Given the description of an element on the screen output the (x, y) to click on. 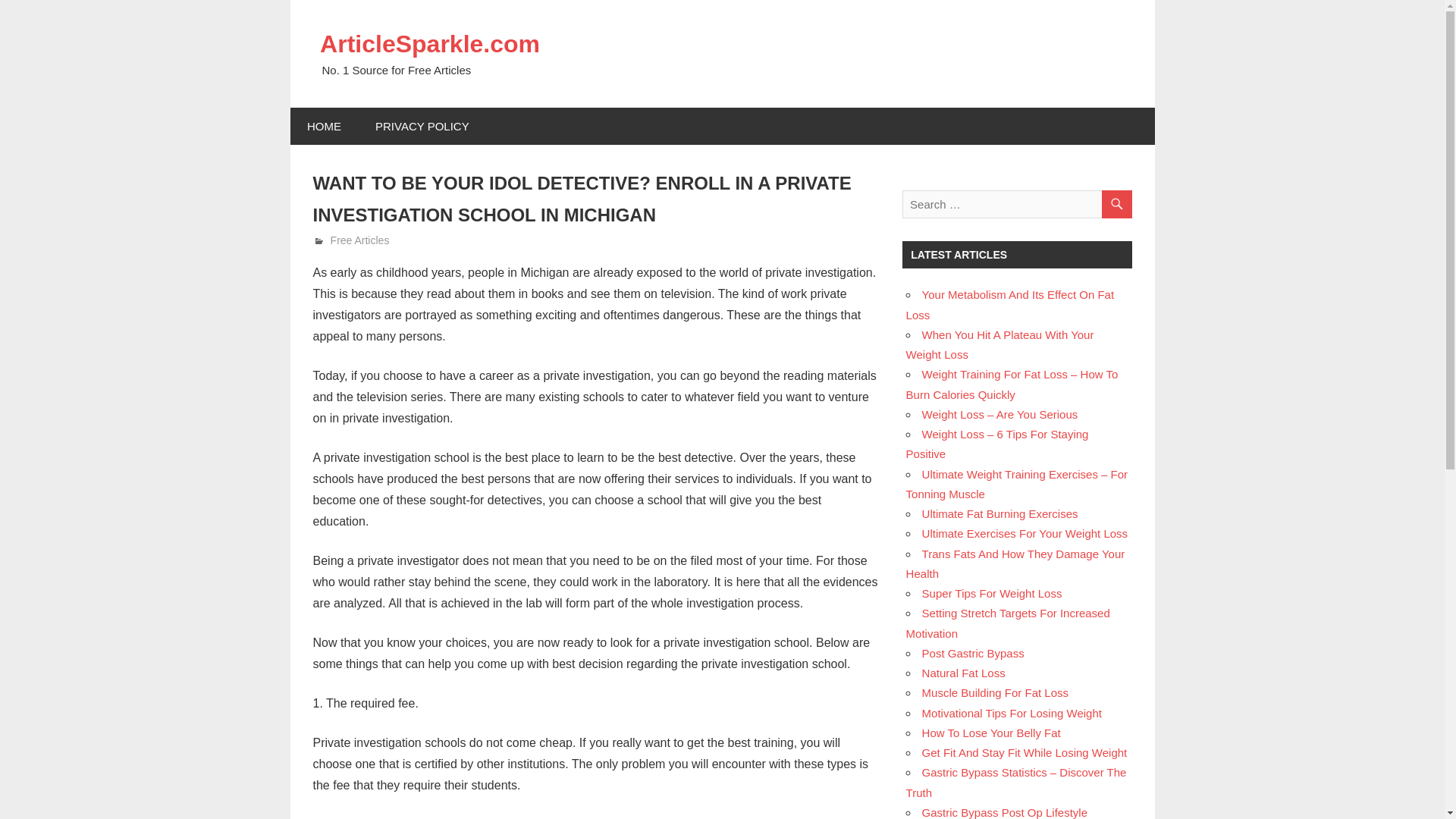
ArticleSparkle.com (430, 43)
Trans Fats And How They Damage Your Health (1015, 563)
How To Lose Your Belly Fat (991, 732)
Post Gastric Bypass (973, 653)
Gastric Bypass Post Op Lifestyle (1004, 812)
PRIVACY POLICY (422, 125)
View all posts by gvtadmin (352, 240)
Natural Fat Loss (963, 672)
7:09 am (368, 240)
Setting Stretch Targets For Increased Motivation (1007, 622)
